Given the description of an element on the screen output the (x, y) to click on. 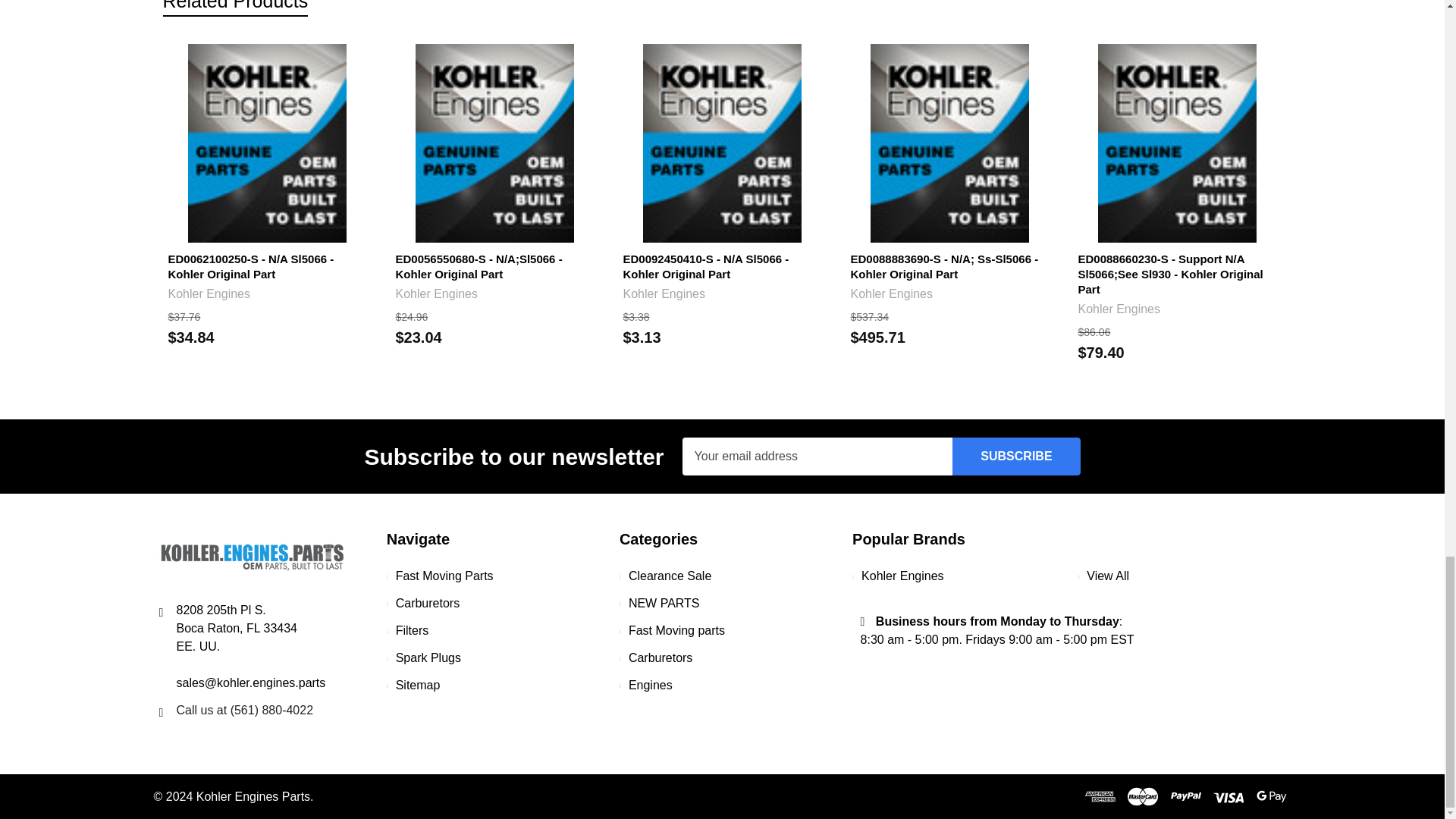
Subscribe (1016, 456)
Kohler Engines Parts (251, 556)
